Given the description of an element on the screen output the (x, y) to click on. 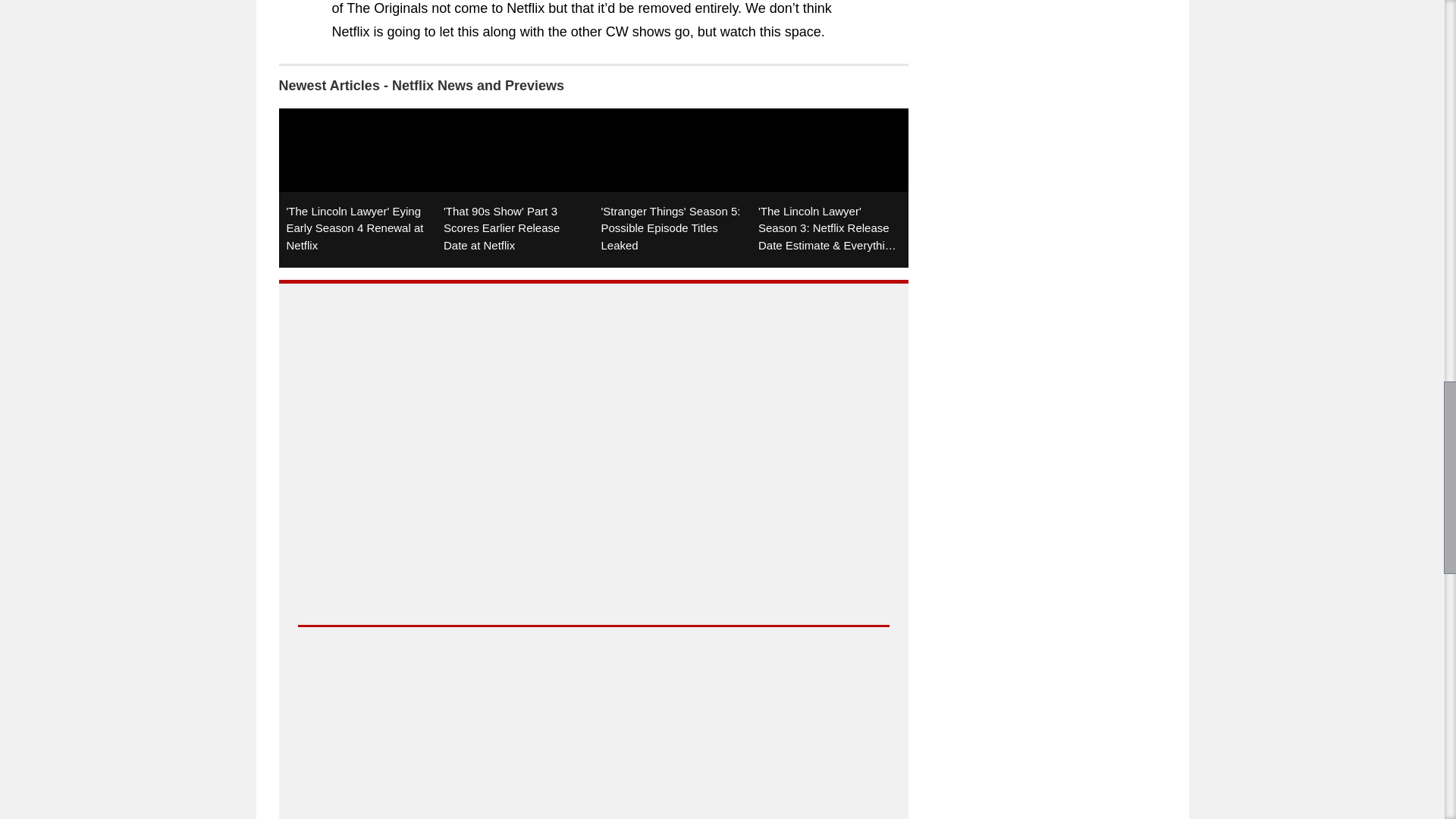
'Stranger Things' Season 5: Possible Episode Titles Leaked (671, 187)
'The Lincoln Lawyer' Eying Early Season 4 Renewal at Netflix (357, 187)
'Stranger Things' Season 5: Possible Episode Titles Leaked (671, 187)
'The Lincoln Lawyer' Eying Early Season 4 Renewal at Netflix (357, 187)
